Given the description of an element on the screen output the (x, y) to click on. 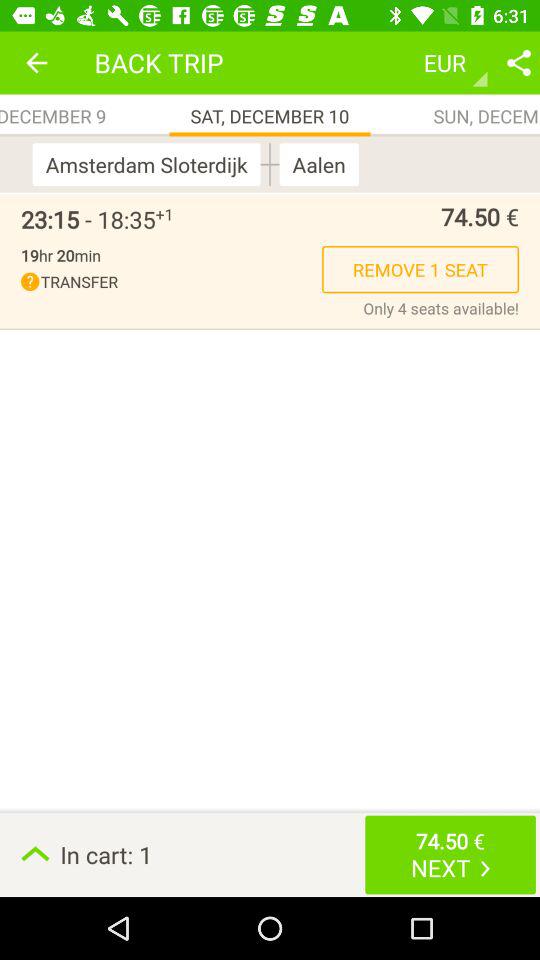
tap the item to the left of back trip item (36, 62)
